Given the description of an element on the screen output the (x, y) to click on. 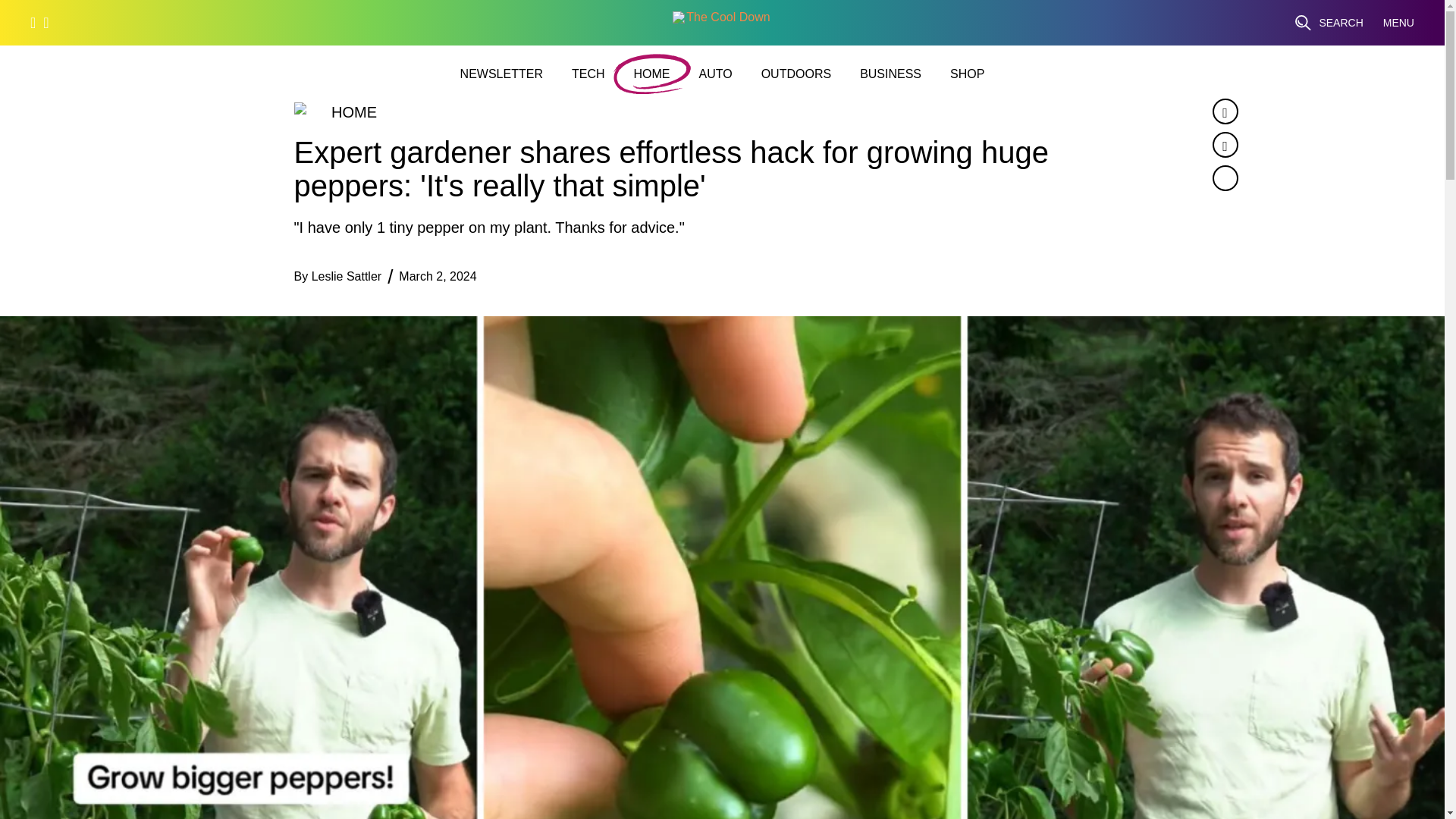
BUSINESS (890, 73)
TECH (588, 73)
NEWSLETTER (501, 73)
AUTO (715, 73)
MENU (1398, 22)
HOME (651, 73)
SHOP (967, 73)
SEARCH (1328, 22)
OUTDOORS (796, 73)
Twitter (1224, 144)
Facebook (1224, 111)
